Given the description of an element on the screen output the (x, y) to click on. 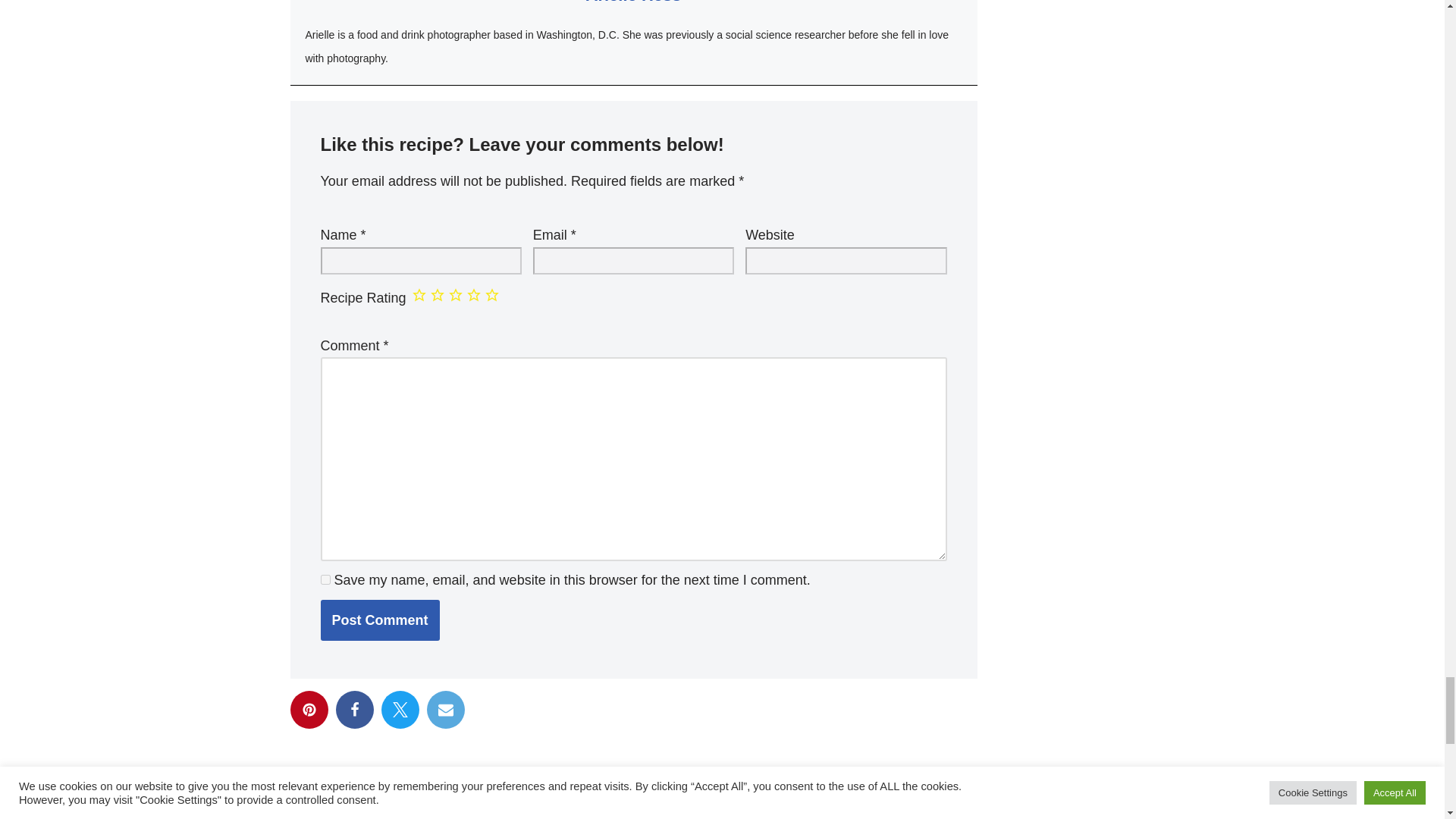
Pinterest (308, 709)
yes (325, 579)
Facebook (353, 709)
Post Comment (379, 620)
